Given the description of an element on the screen output the (x, y) to click on. 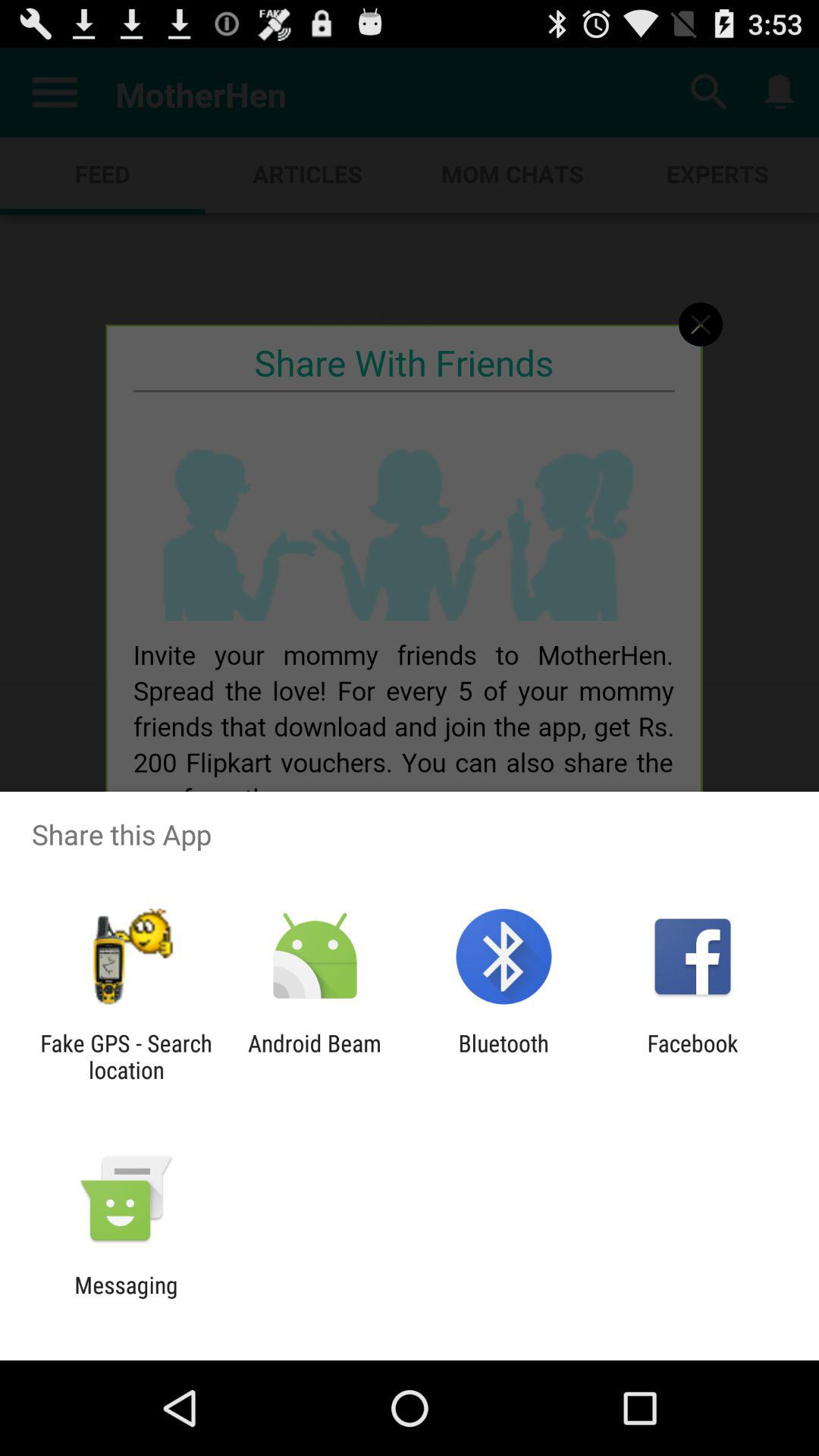
swipe until the fake gps search item (125, 1056)
